Given the description of an element on the screen output the (x, y) to click on. 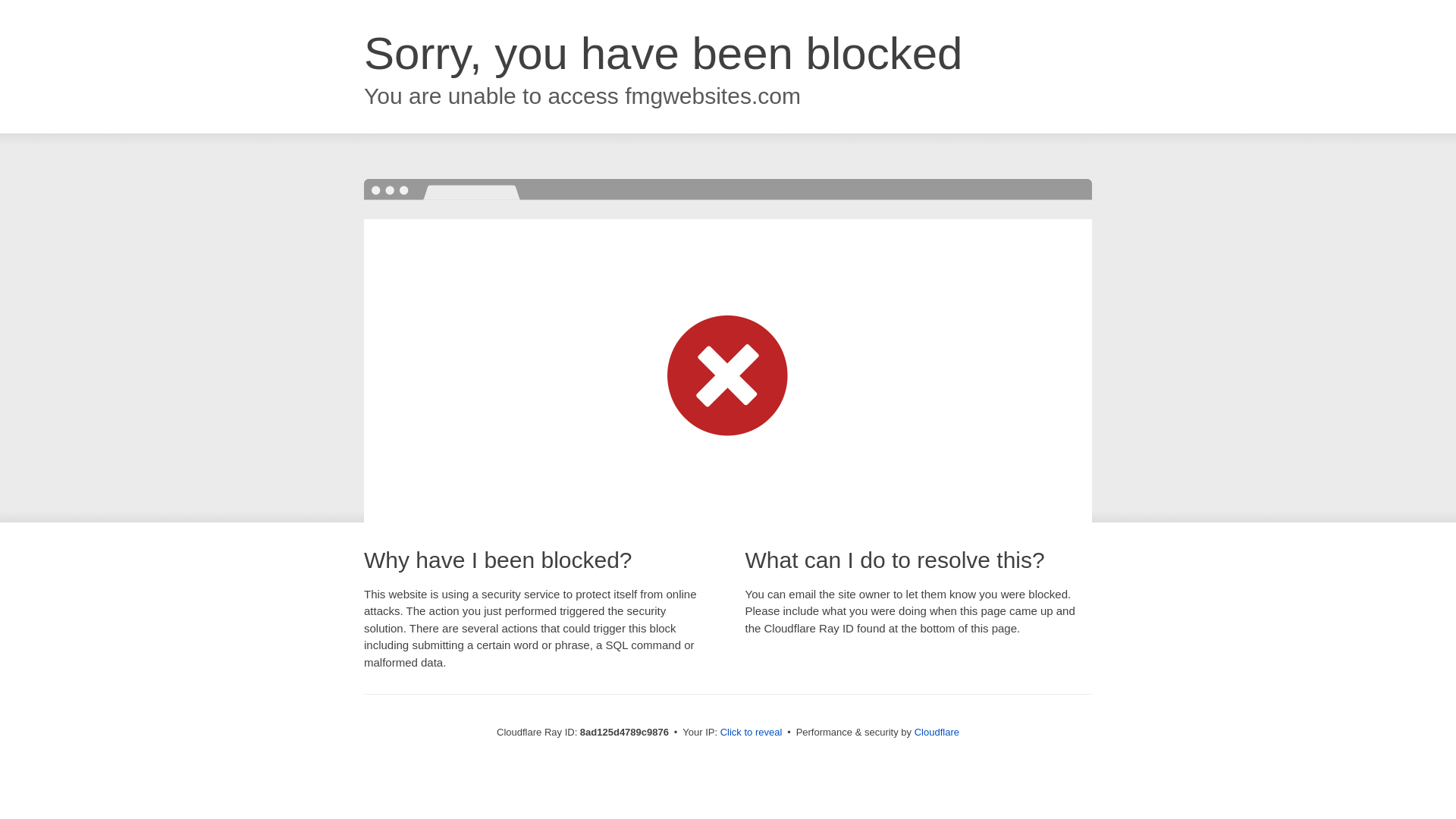
Cloudflare (936, 731)
Click to reveal (751, 732)
